Given the description of an element on the screen output the (x, y) to click on. 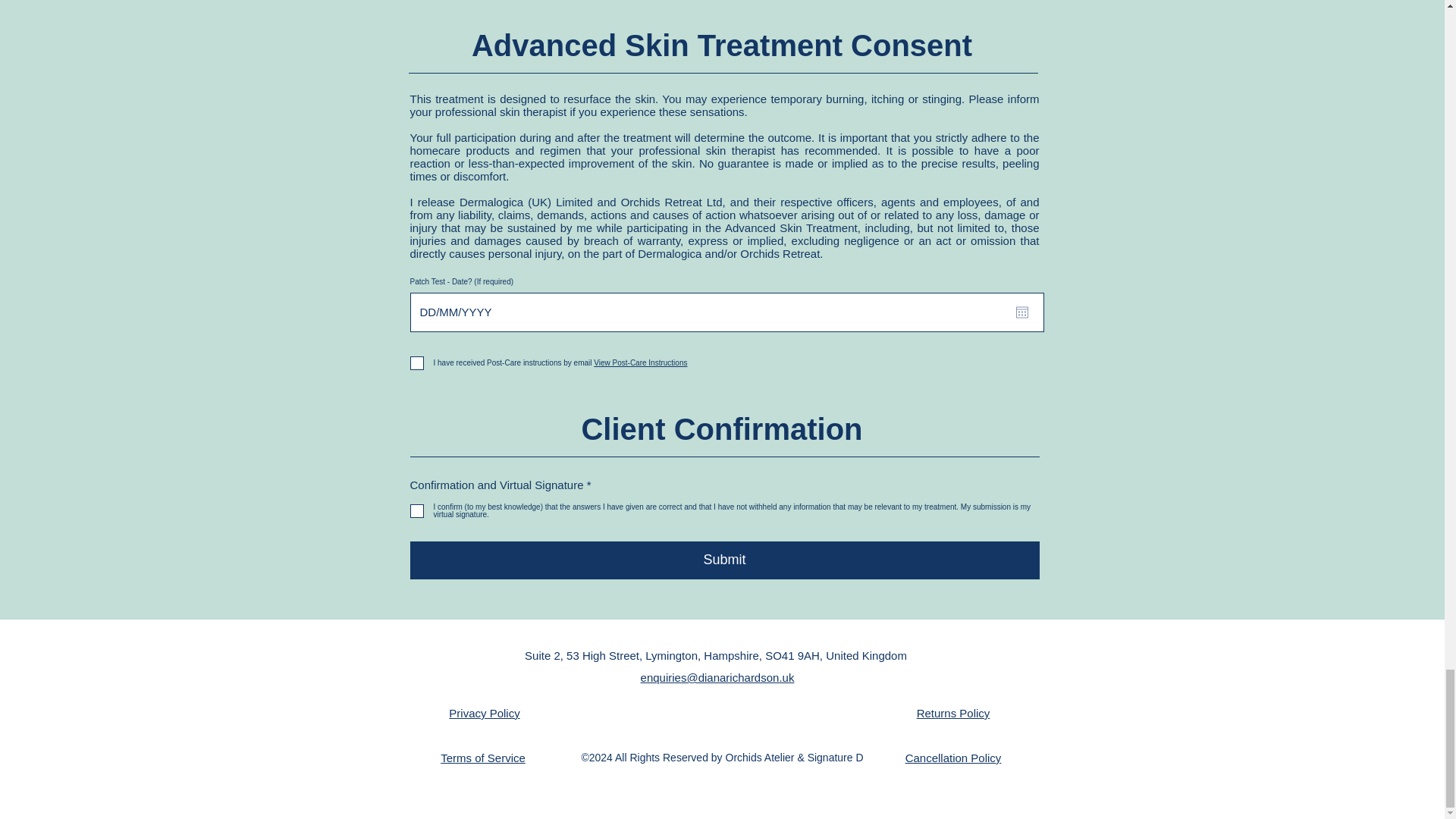
Submit (724, 560)
View Post-Care Instructions (639, 362)
